Given the description of an element on the screen output the (x, y) to click on. 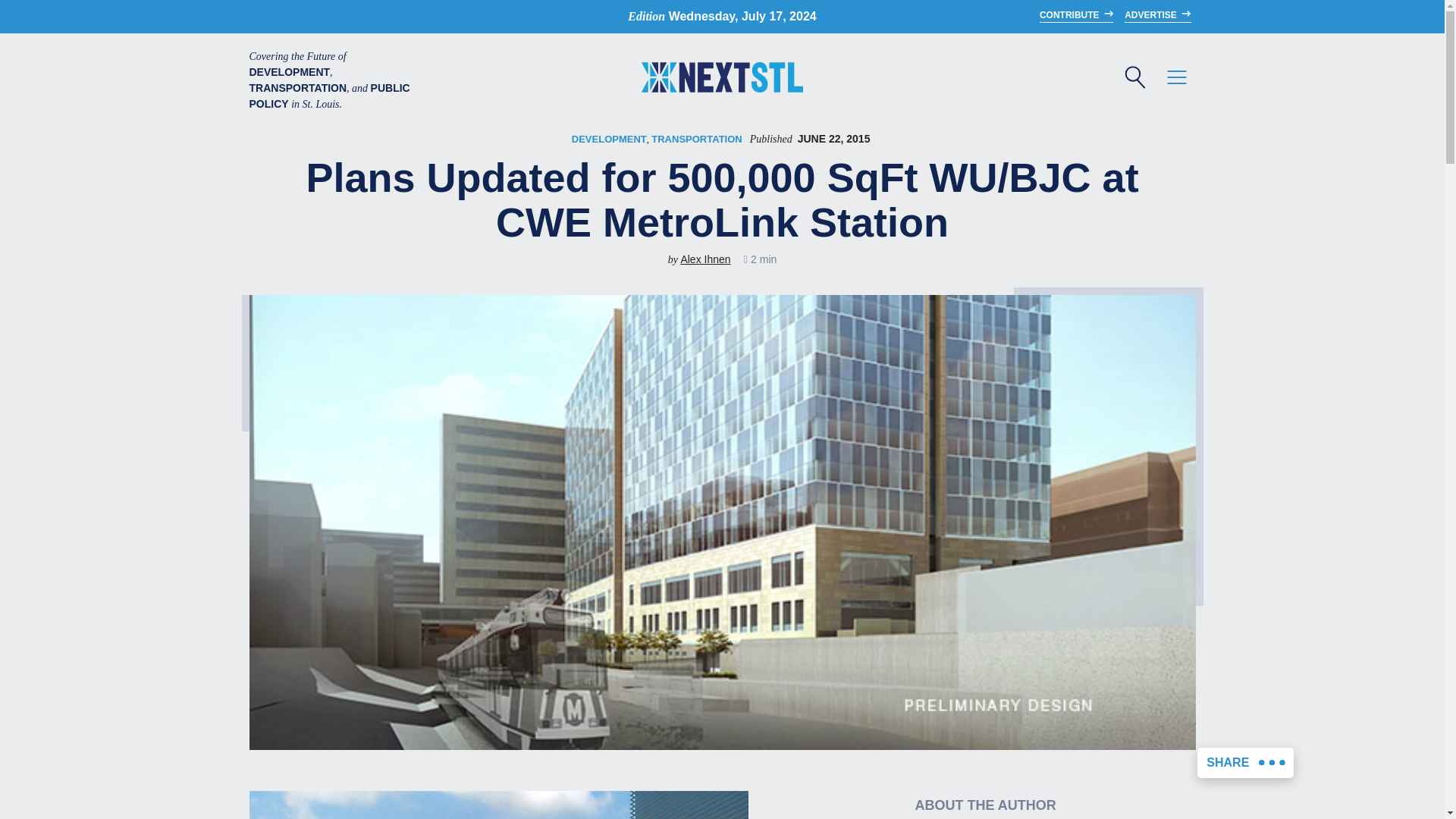
TRANSPORTATION (695, 138)
CONTRIBUTE (1076, 15)
Alex Ihnen (704, 259)
ADVERTISE (1157, 15)
SHARE (1245, 762)
go to home page (722, 80)
DEVELOPMENT (609, 138)
